Given the description of an element on the screen output the (x, y) to click on. 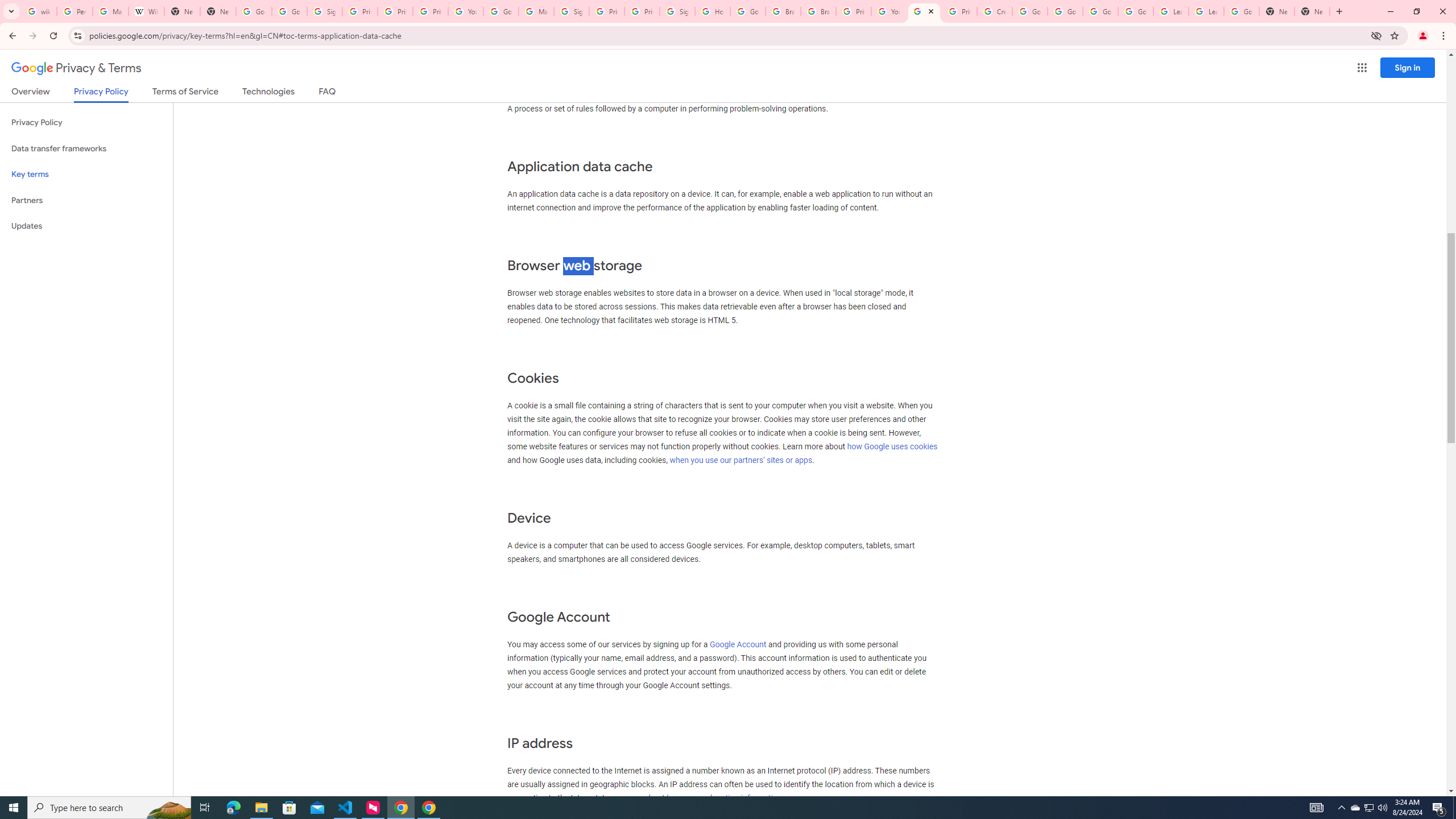
Google Account Help (1064, 11)
Google Account Help (1135, 11)
